Given the description of an element on the screen output the (x, y) to click on. 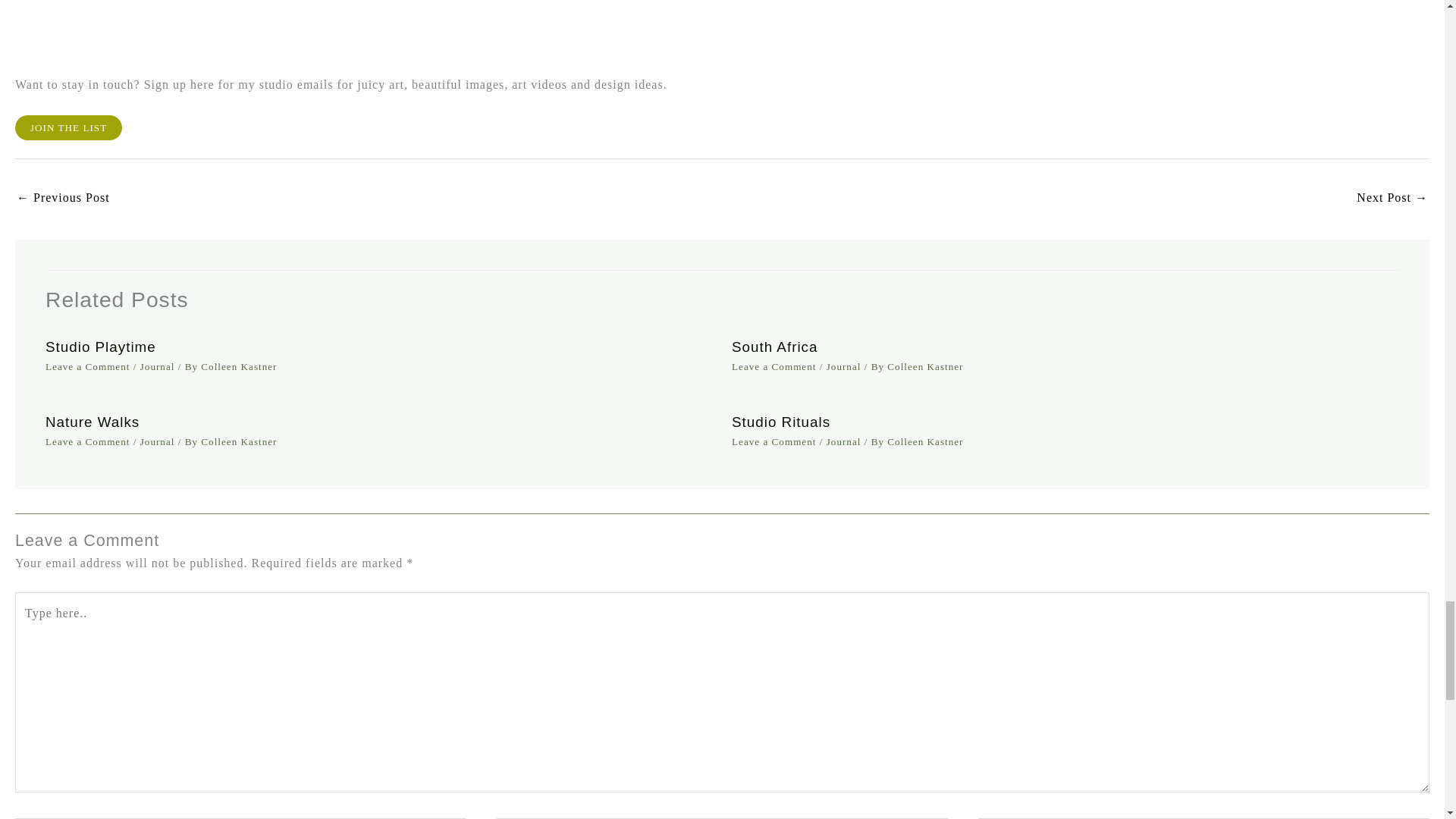
View all posts by Colleen Kastner (238, 366)
View all posts by Colleen Kastner (238, 441)
View all posts by Colleen Kastner (924, 441)
How to tell when your Painting is Finished (1392, 198)
Some Favorite Ways to Begin a New Painting (63, 198)
View all posts by Colleen Kastner (924, 366)
